Given the description of an element on the screen output the (x, y) to click on. 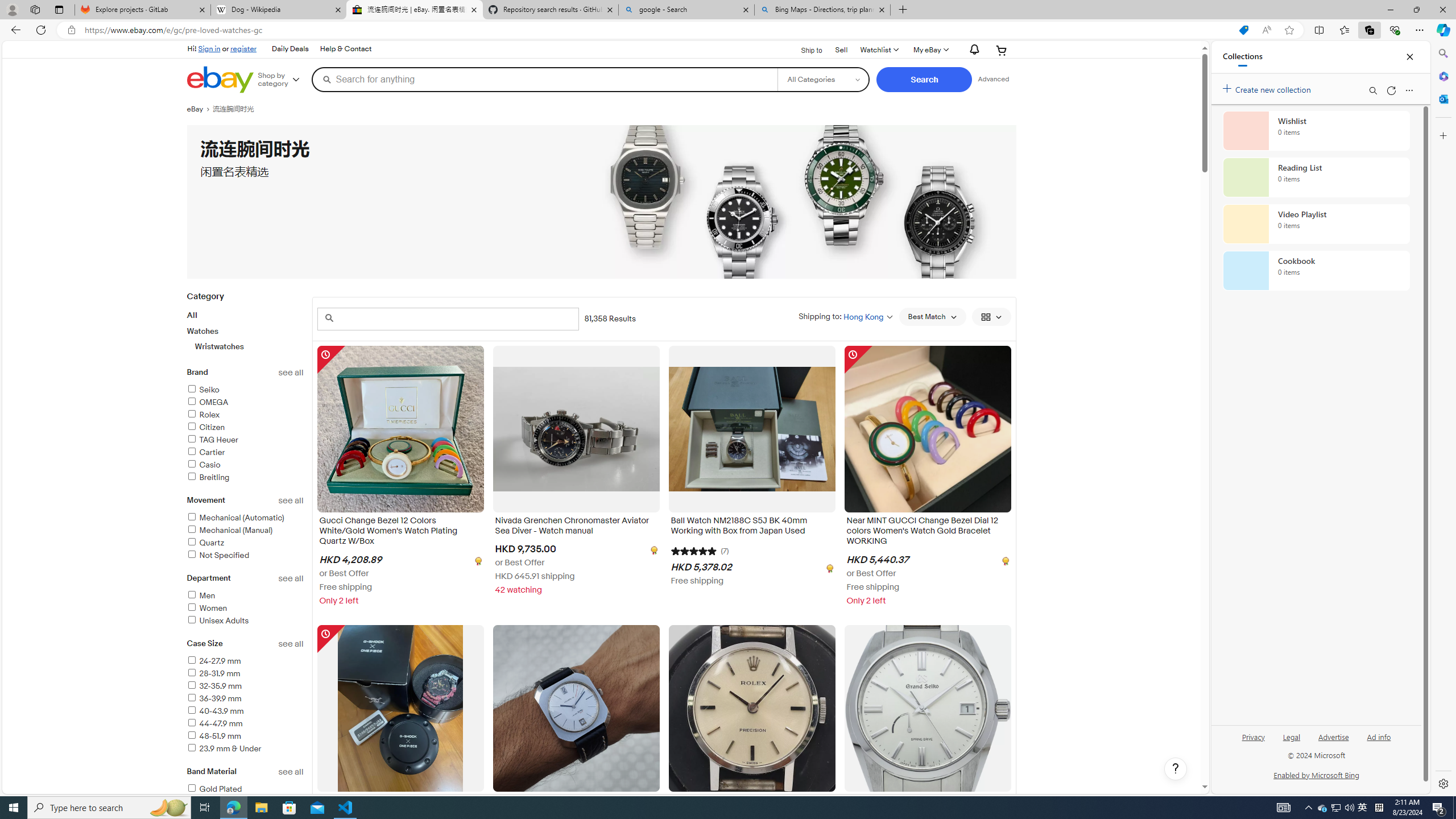
40-43.9 mm (245, 711)
36-39.9 mm (213, 698)
Citizen (245, 427)
Rolex (202, 414)
Video Playlist collection, 0 items (1316, 223)
Unisex Adults (245, 620)
My eBayExpand My eBay (930, 49)
28-31.9 mm (213, 673)
Casio (203, 465)
